Given the description of an element on the screen output the (x, y) to click on. 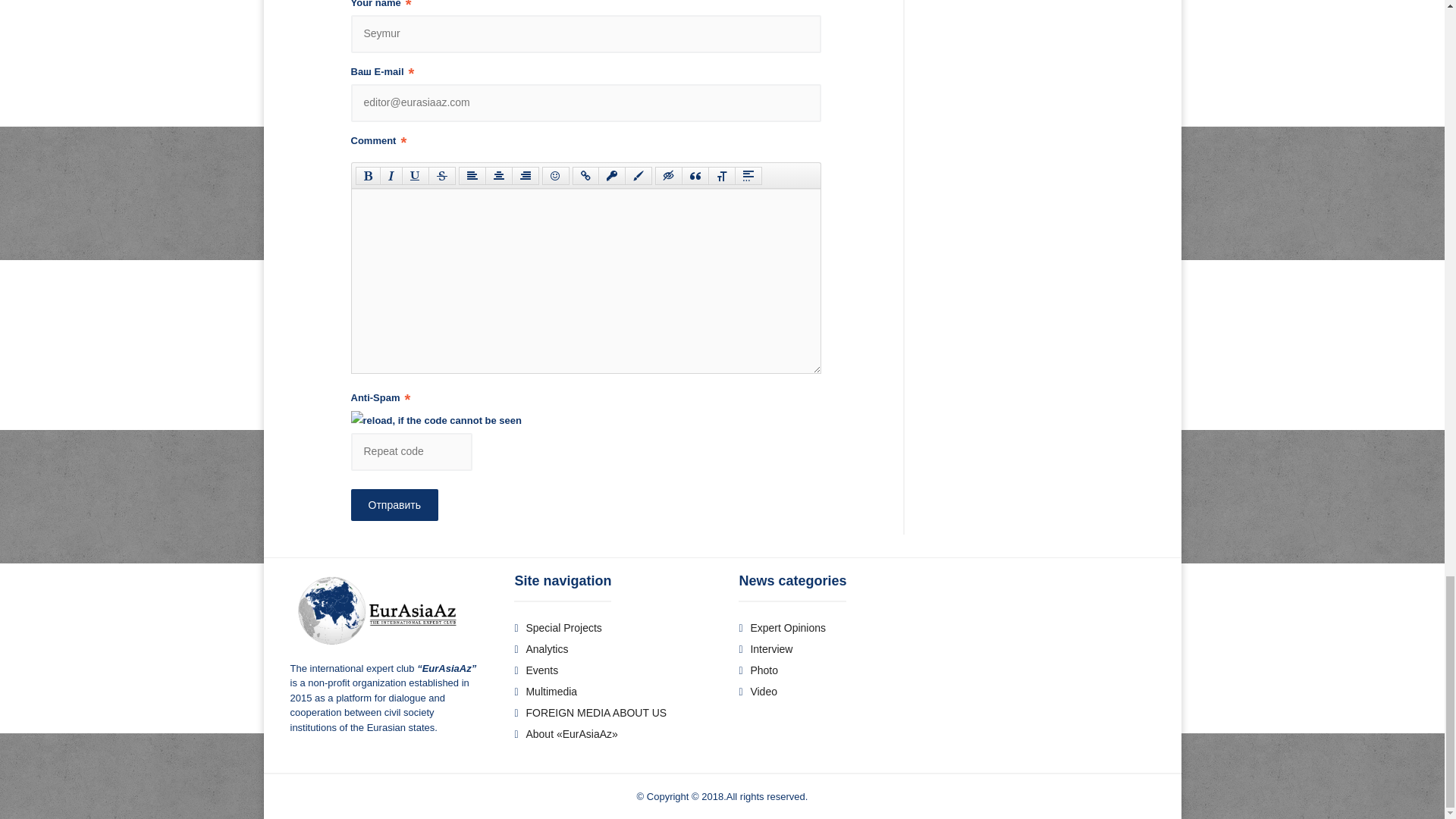
Align left (471, 176)
Italic (389, 176)
Align right (524, 176)
Align center (498, 176)
Hidden text (668, 176)
Insert link (585, 176)
Insert protected link (610, 176)
Insert quote (694, 176)
Select color (638, 176)
Insert emoticons (555, 176)
Strikethrough (441, 176)
Insert spoiler (747, 176)
Underline (415, 176)
Bold (367, 176)
